Given the description of an element on the screen output the (x, y) to click on. 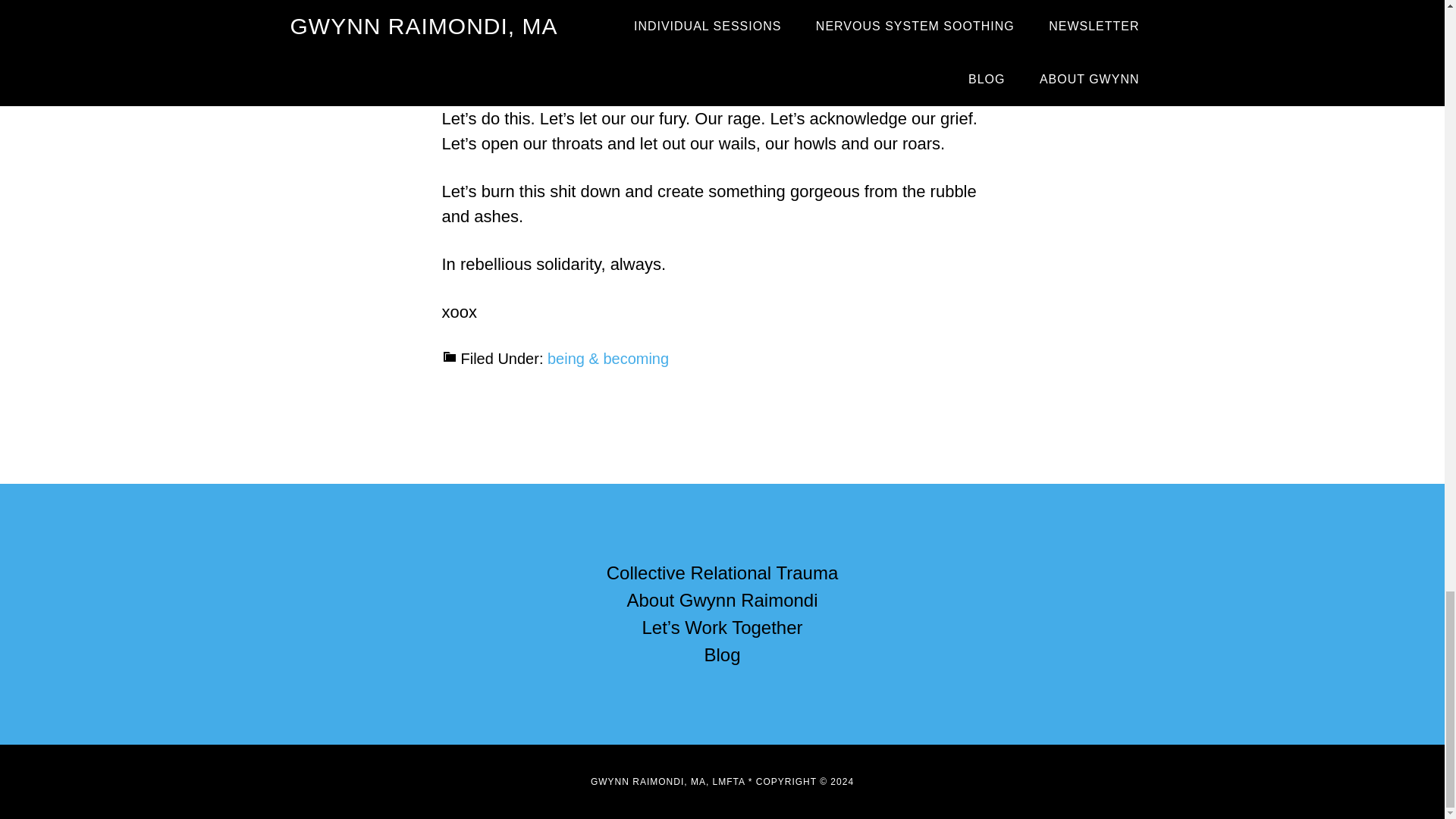
Collective Relational Trauma (722, 572)
Blog (721, 654)
About Gwynn Raimondi (721, 599)
